Given the description of an element on the screen output the (x, y) to click on. 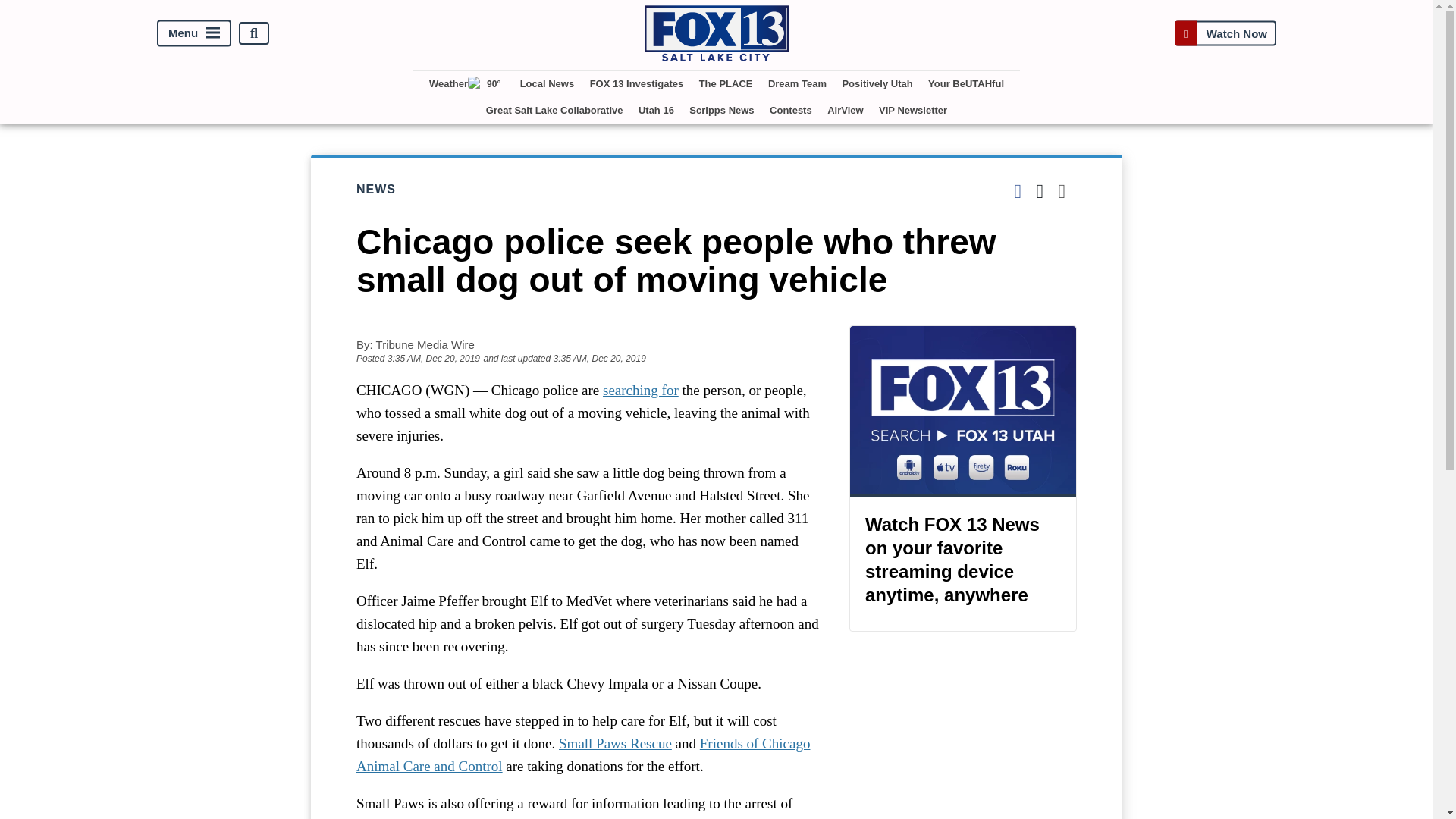
Watch Now (1224, 33)
Menu (194, 33)
